Given the description of an element on the screen output the (x, y) to click on. 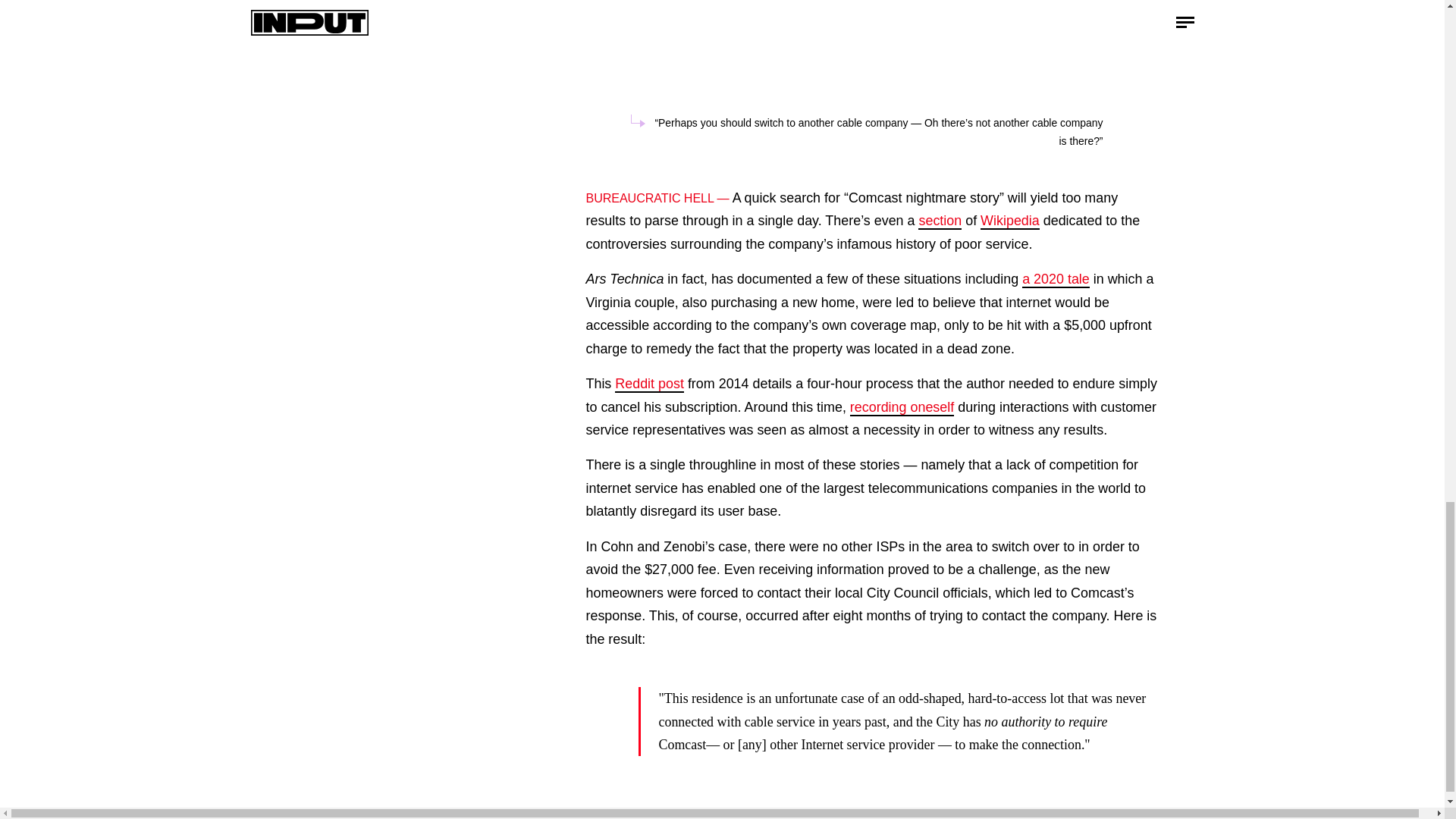
Reddit post (649, 384)
recording oneself (901, 407)
Wikipedia (1009, 221)
a 2020 tale (1055, 279)
section (939, 221)
